Given the description of an element on the screen output the (x, y) to click on. 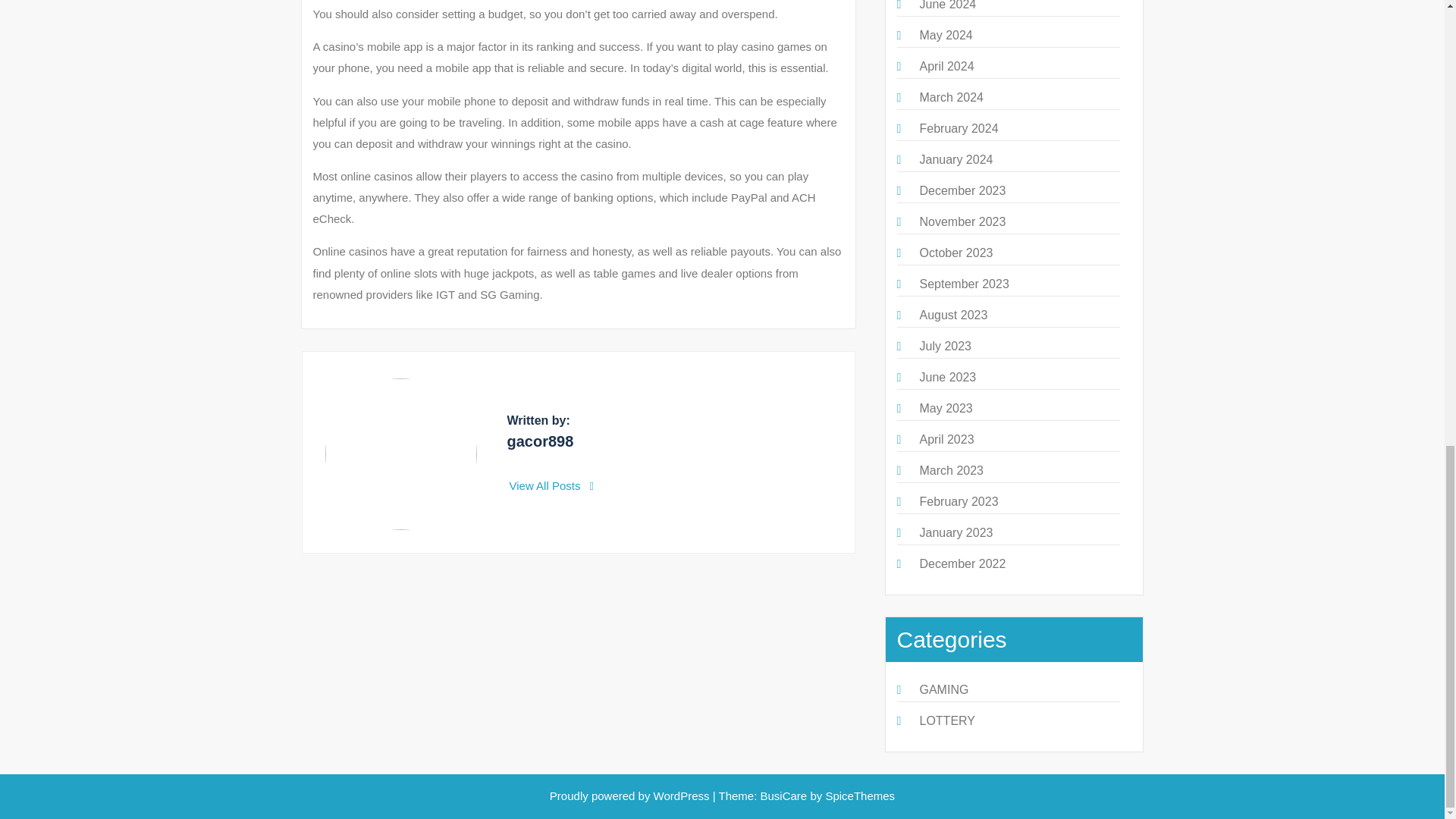
April 2024 (946, 65)
February 2023 (957, 501)
November 2023 (962, 221)
August 2023 (952, 314)
April 2023 (946, 439)
January 2024 (955, 159)
LOTTERY (946, 720)
June 2023 (946, 377)
May 2023 (945, 408)
View All Posts (551, 485)
July 2023 (944, 345)
October 2023 (955, 252)
January 2023 (955, 532)
December 2023 (962, 190)
December 2022 (962, 563)
